Given the description of an element on the screen output the (x, y) to click on. 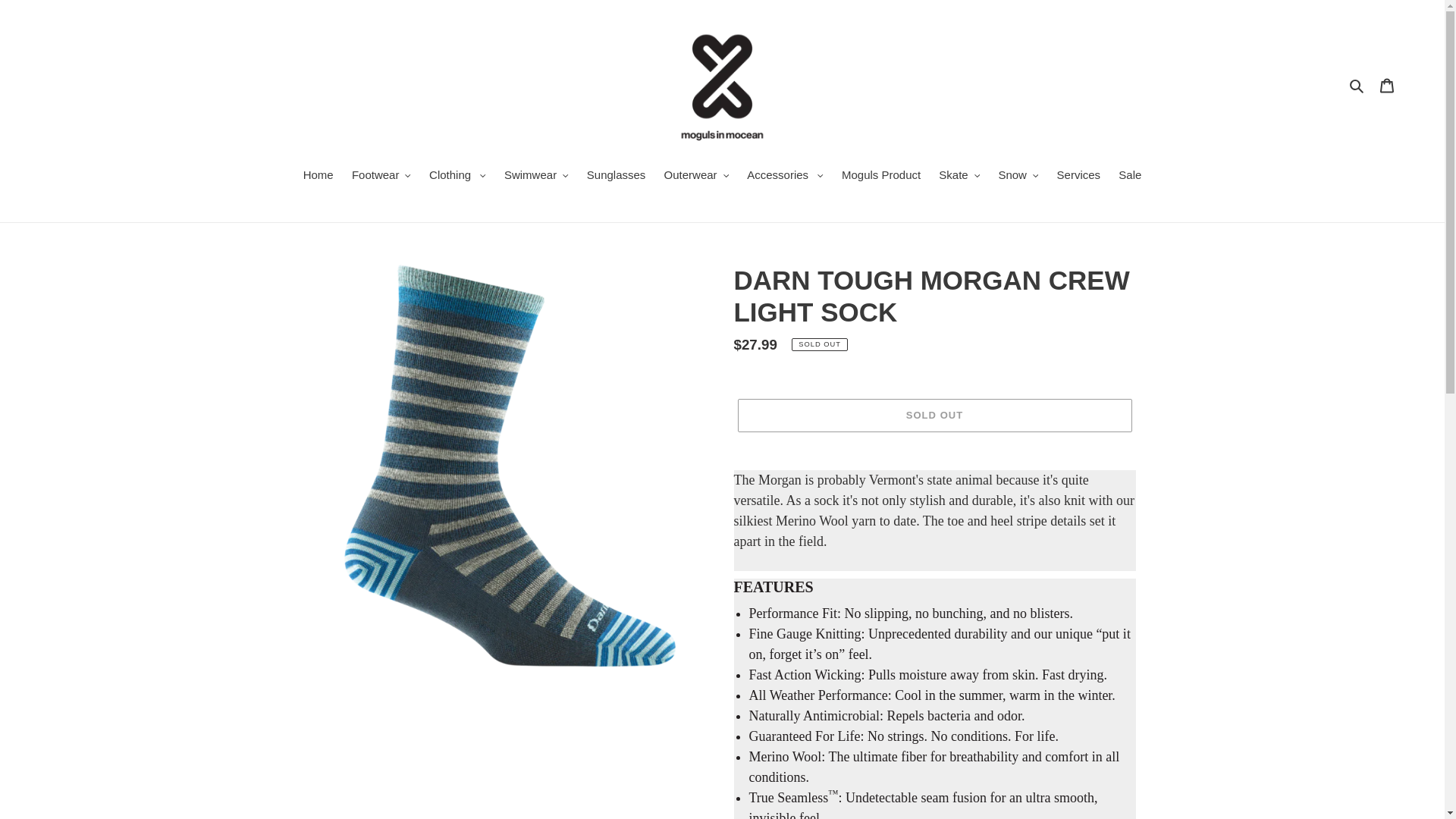
Search (1357, 85)
Cart (1387, 84)
